Given the description of an element on the screen output the (x, y) to click on. 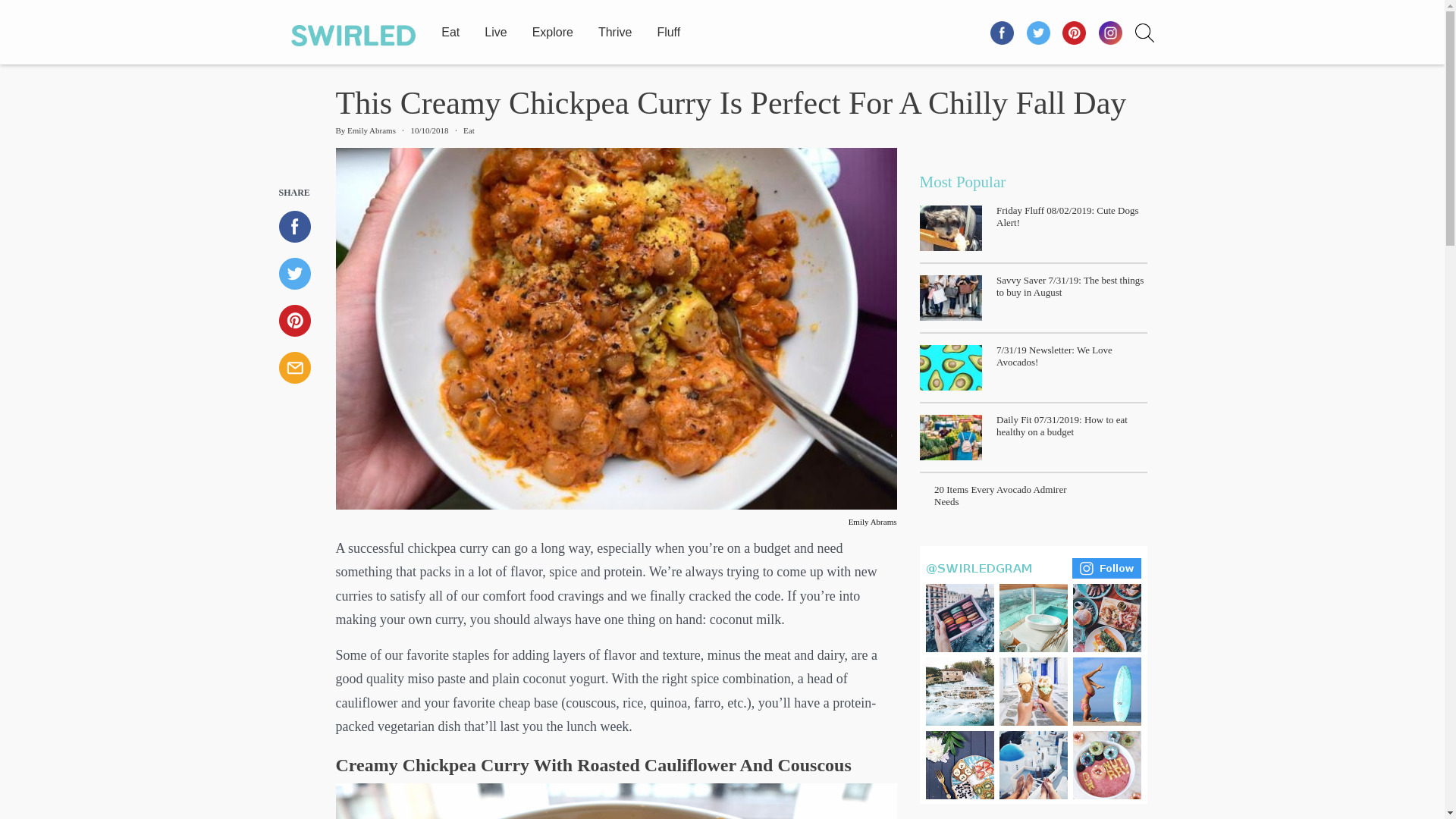
Live (495, 28)
Instagram (1109, 31)
Facebook (1003, 31)
Thrive (614, 28)
Pinterest (1075, 31)
Fluff (667, 28)
Instagram (1032, 672)
Facebook (301, 226)
Explore (552, 28)
Pinterest (301, 320)
Twitter (1038, 31)
Mail (301, 368)
Twitter (301, 273)
